Given the description of an element on the screen output the (x, y) to click on. 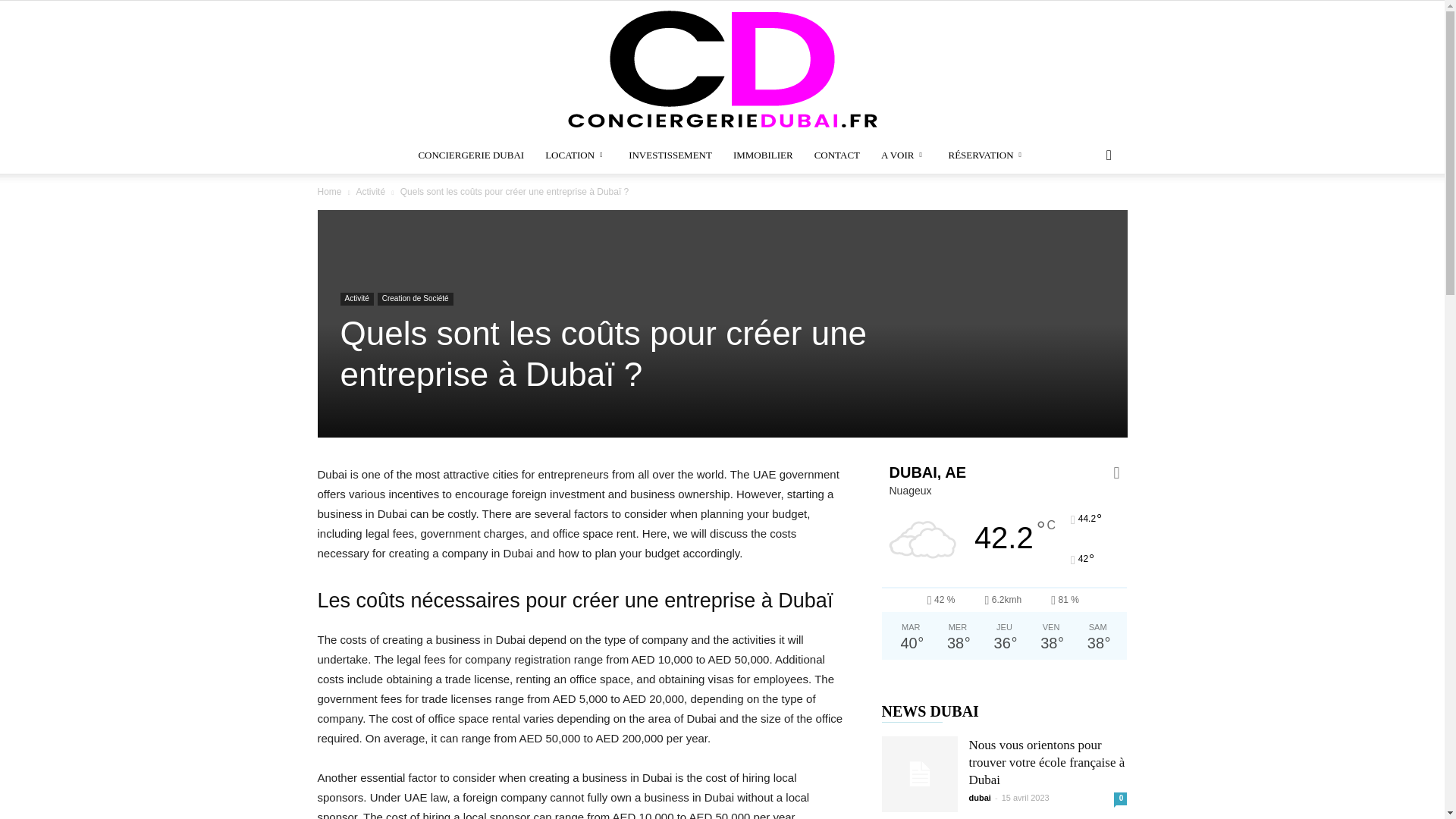
CONCIERGERIE DUBAI (721, 68)
